Given the description of an element on the screen output the (x, y) to click on. 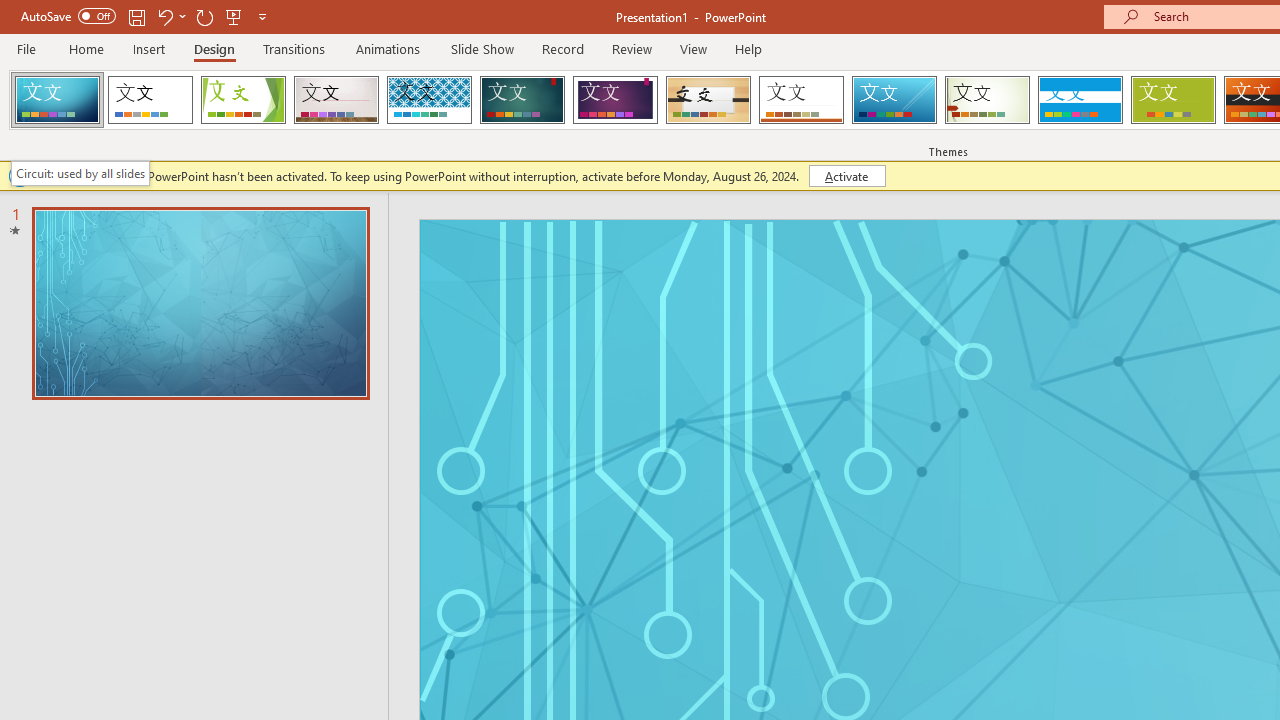
Organic (708, 100)
Facet (243, 100)
Circuit: used by all slides (80, 173)
Slice (893, 100)
